Given the description of an element on the screen output the (x, y) to click on. 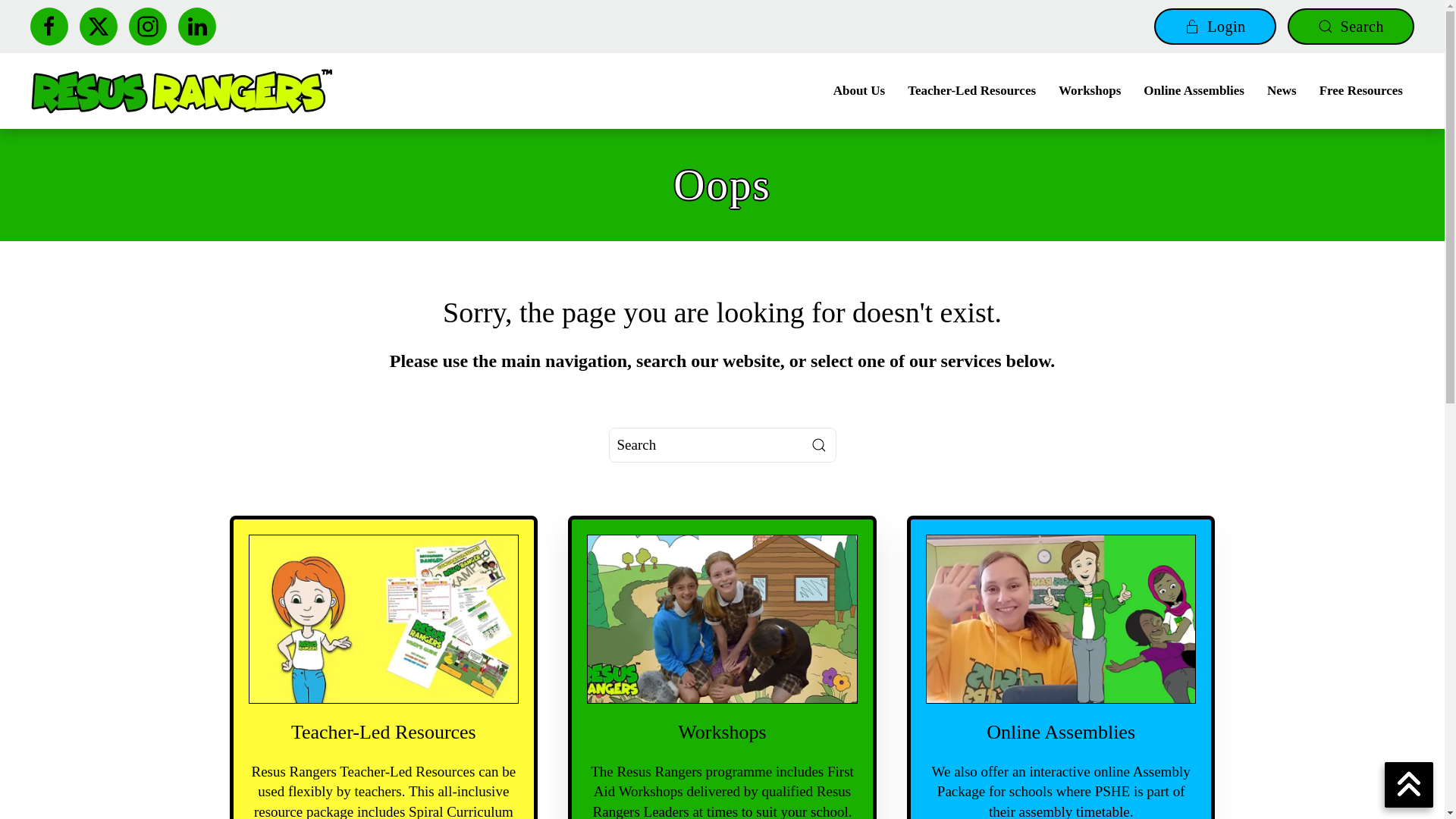
About Us (859, 90)
Teacher-Led Resources (971, 90)
Login (1214, 26)
Search (1350, 26)
